Given the description of an element on the screen output the (x, y) to click on. 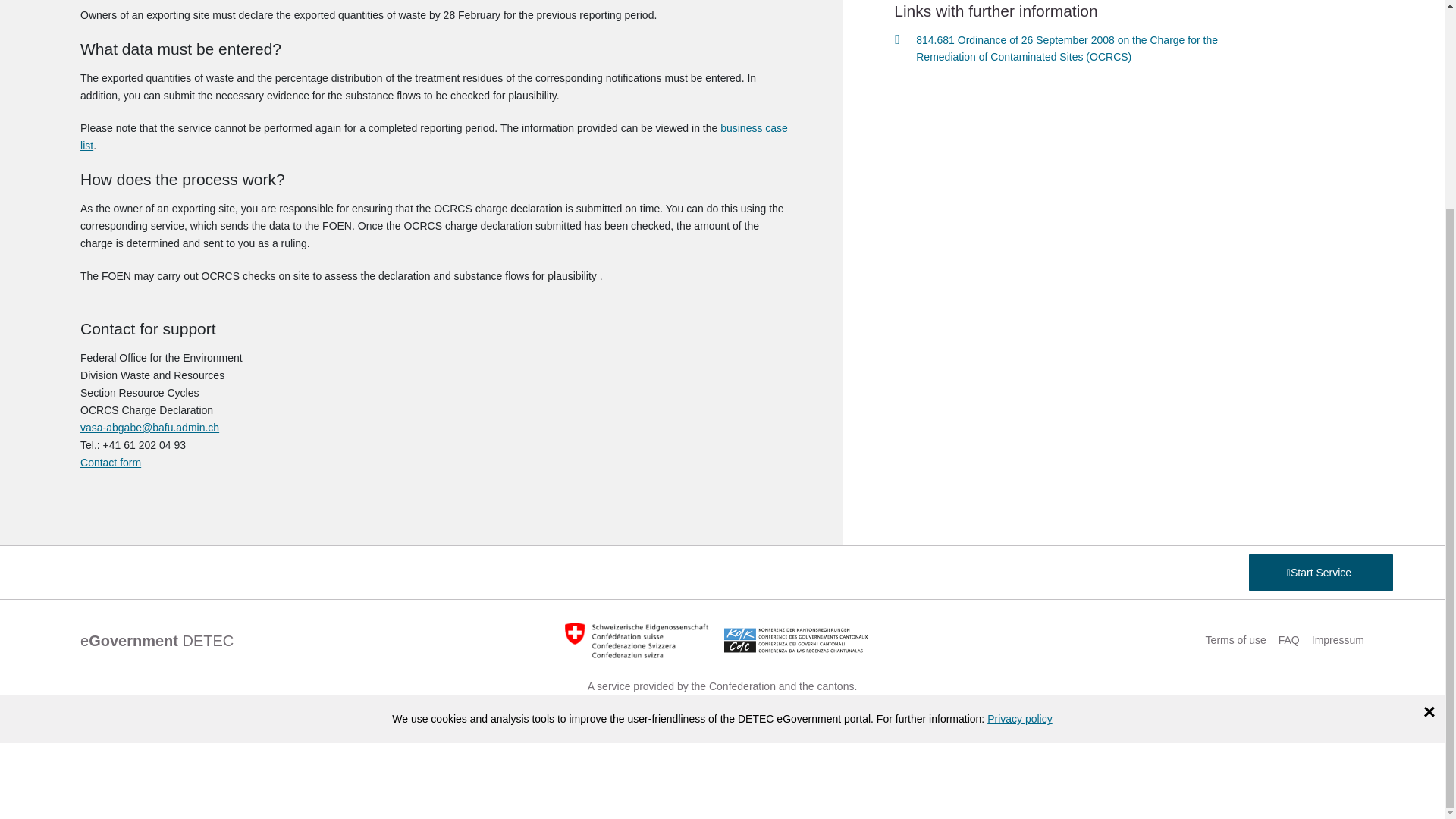
Start Service (1321, 523)
business case list (433, 136)
Privacy policy (1019, 718)
Impressum (1337, 640)
Contact form (110, 462)
FAQ (1289, 640)
Terms of use (1235, 640)
